Given the description of an element on the screen output the (x, y) to click on. 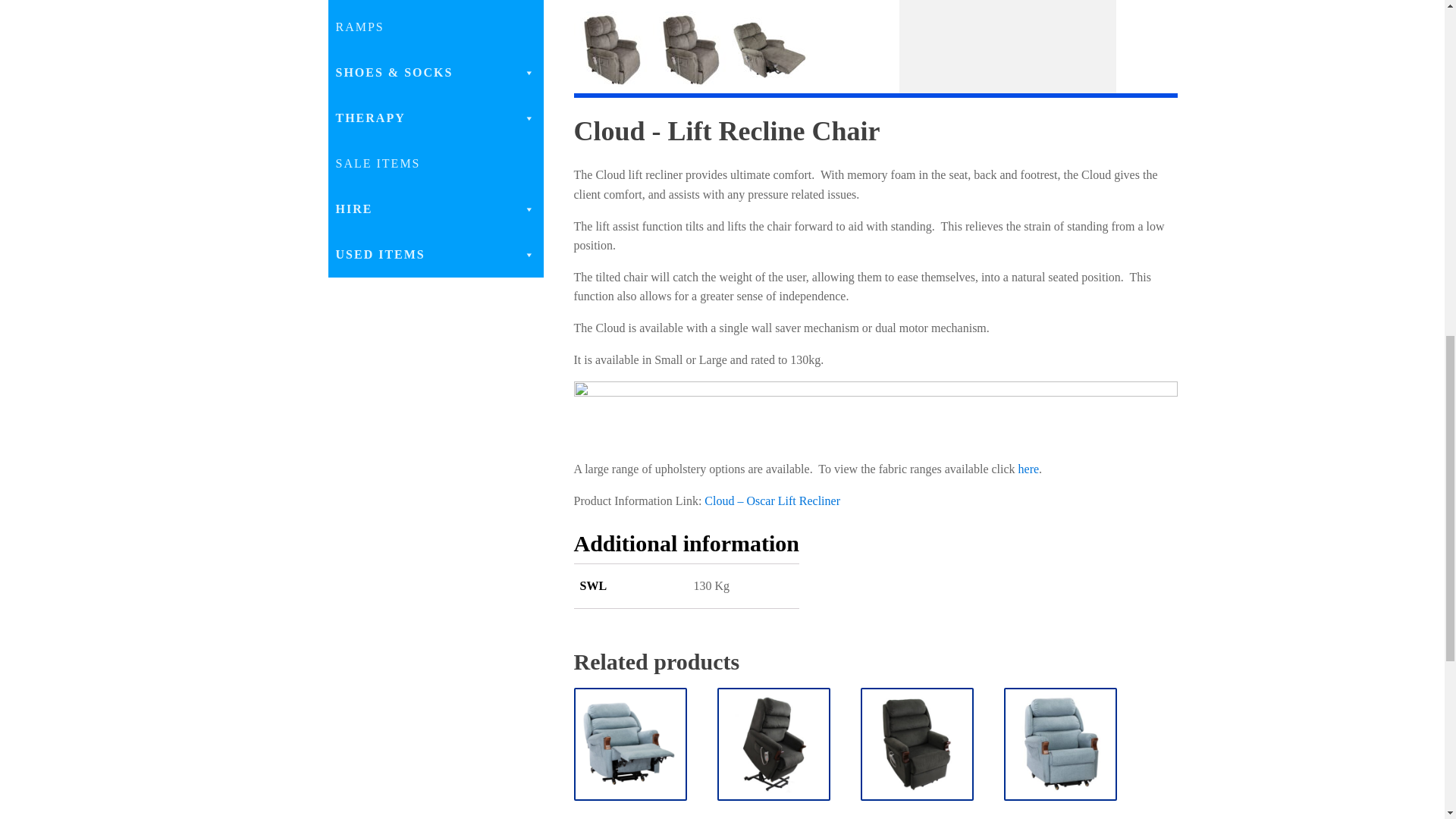
Cloud-ST-G-4-1 (736, 2)
